Given the description of an element on the screen output the (x, y) to click on. 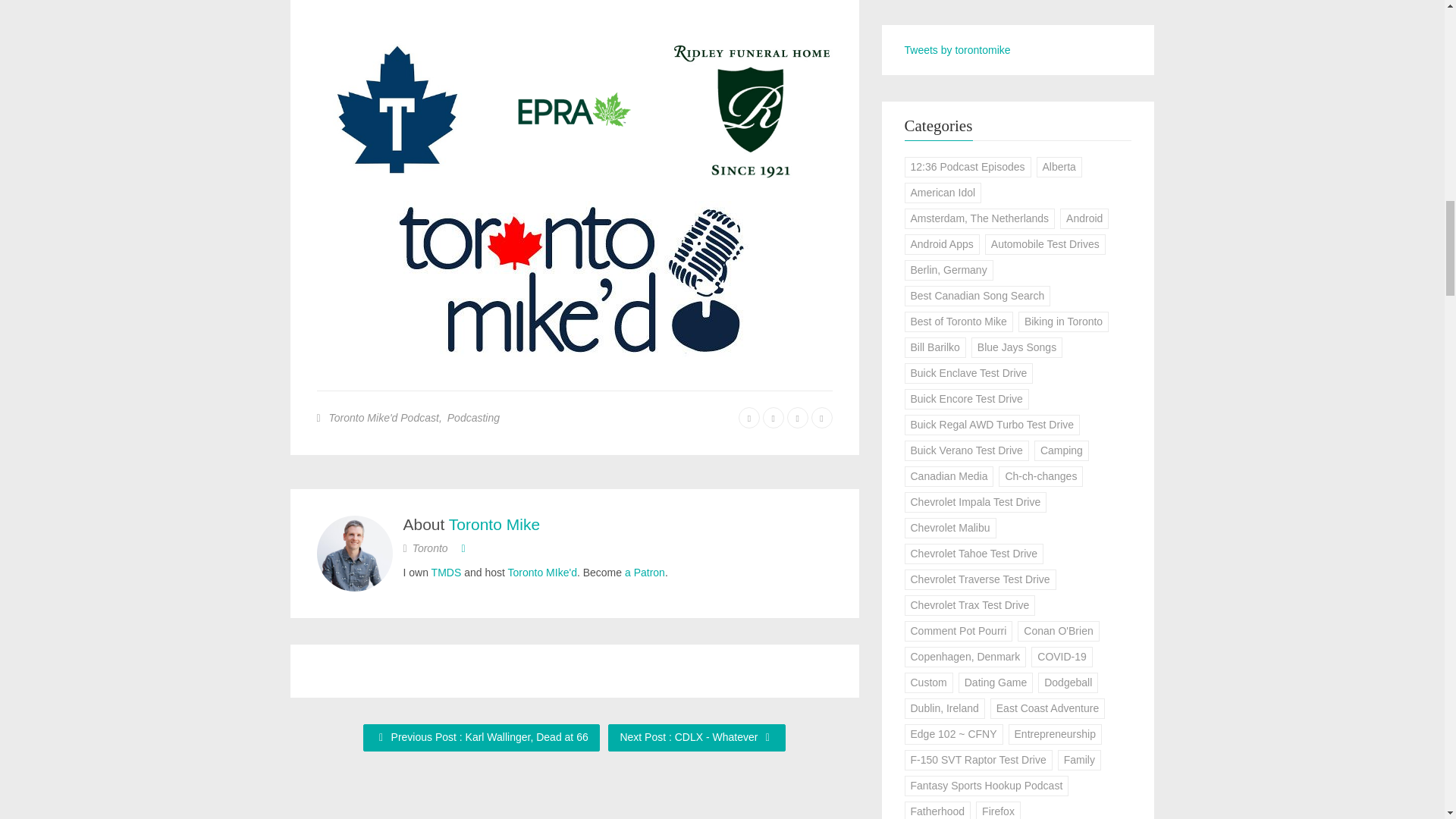
Podcasting (398, 109)
Ridley Funeral Home (472, 417)
Toronto Mike'd Podcast (751, 109)
Electronic Products Recycling Association (384, 417)
